Given the description of an element on the screen output the (x, y) to click on. 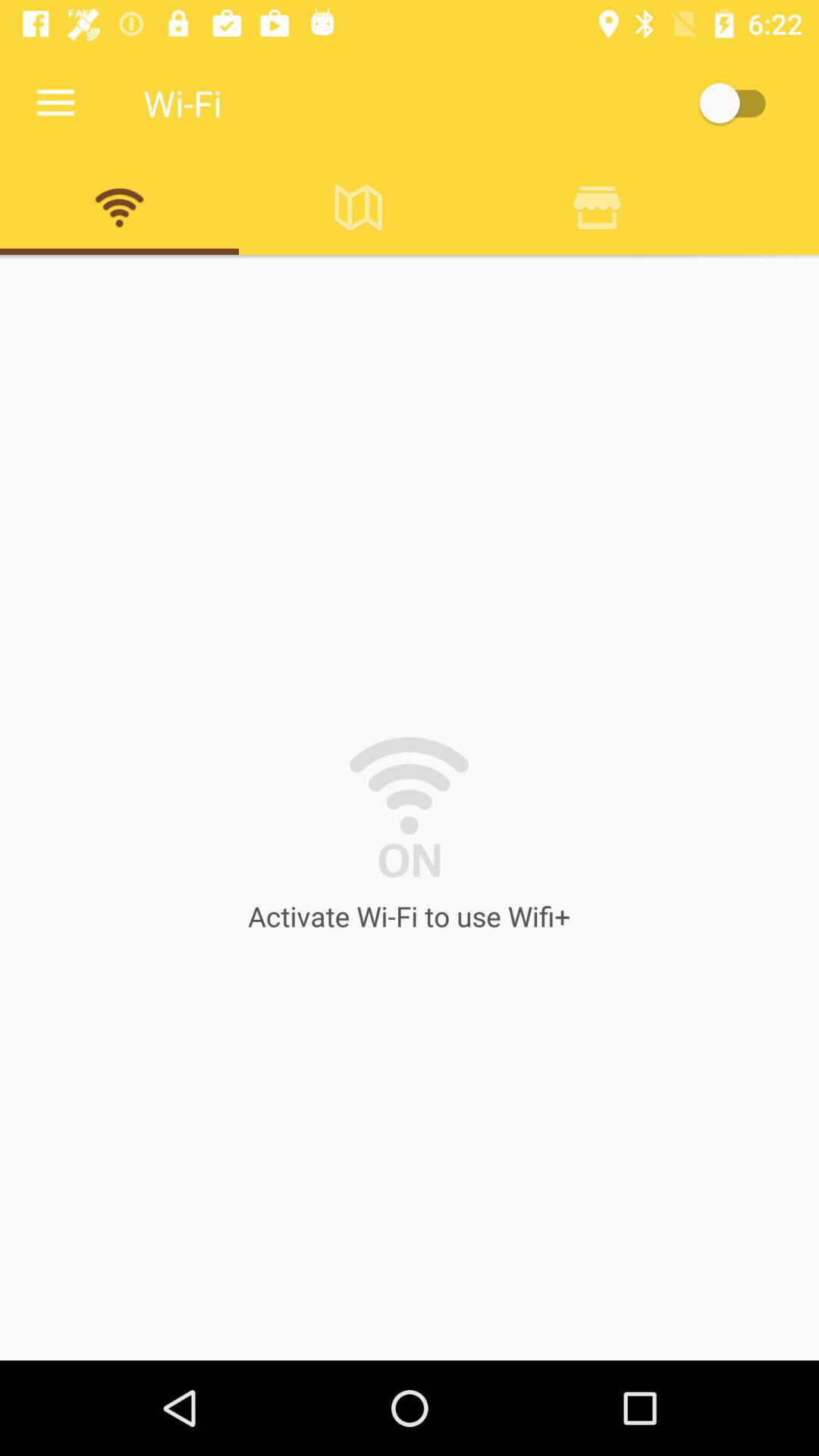
delect button (596, 206)
